Given the description of an element on the screen output the (x, y) to click on. 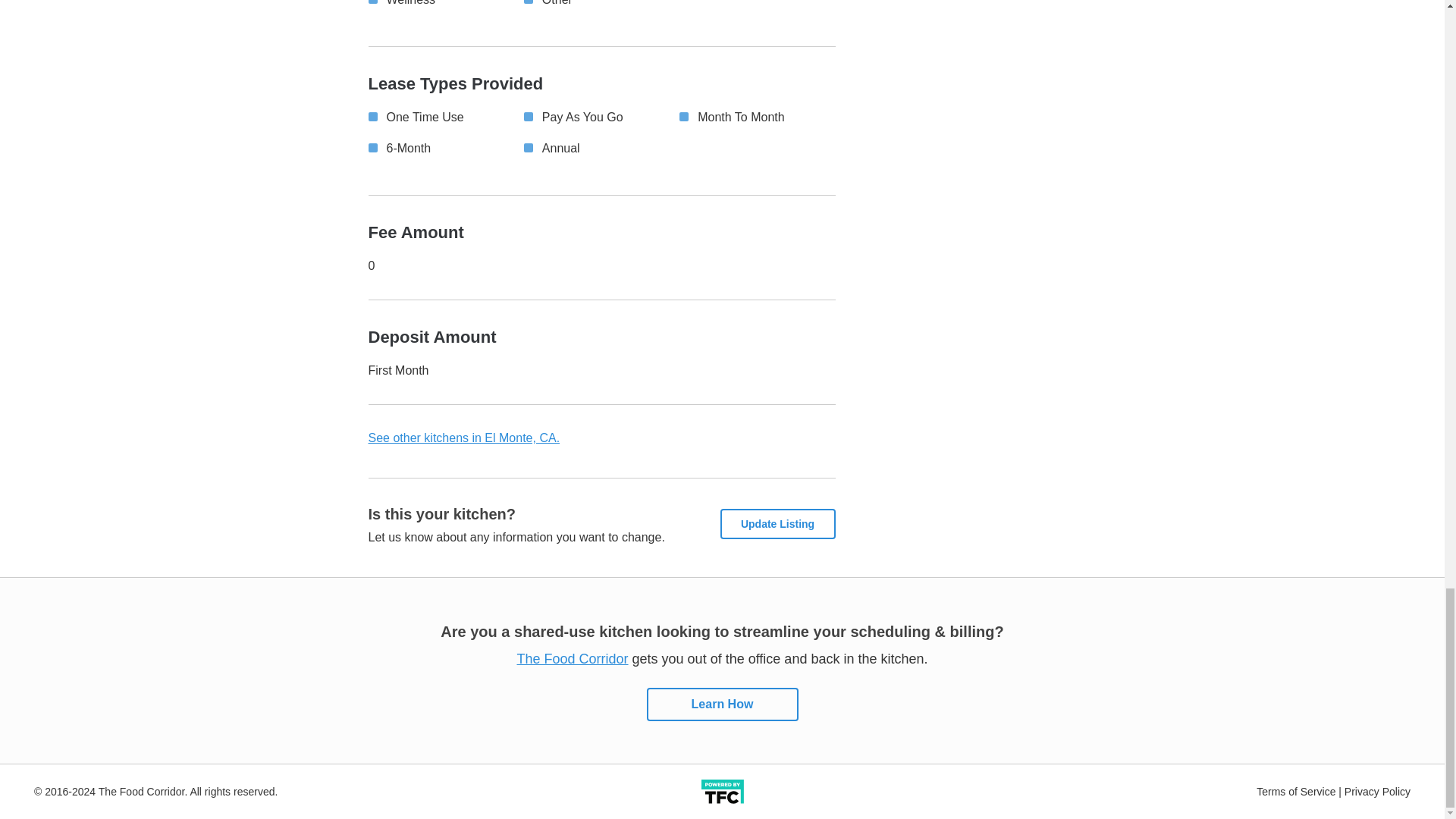
The Food Coridor (572, 658)
The Food Corridor (721, 789)
See other kitchens in El Monte, CA. (464, 437)
Privacy Policy (1376, 789)
Learn How (721, 704)
Update Listing (777, 523)
Update Listing (777, 523)
Terms of Service (1295, 789)
Terms of Service (1295, 789)
Privacy Policy (1376, 789)
The Food Coridor (721, 704)
The Food Corridor (572, 658)
